Given the description of an element on the screen output the (x, y) to click on. 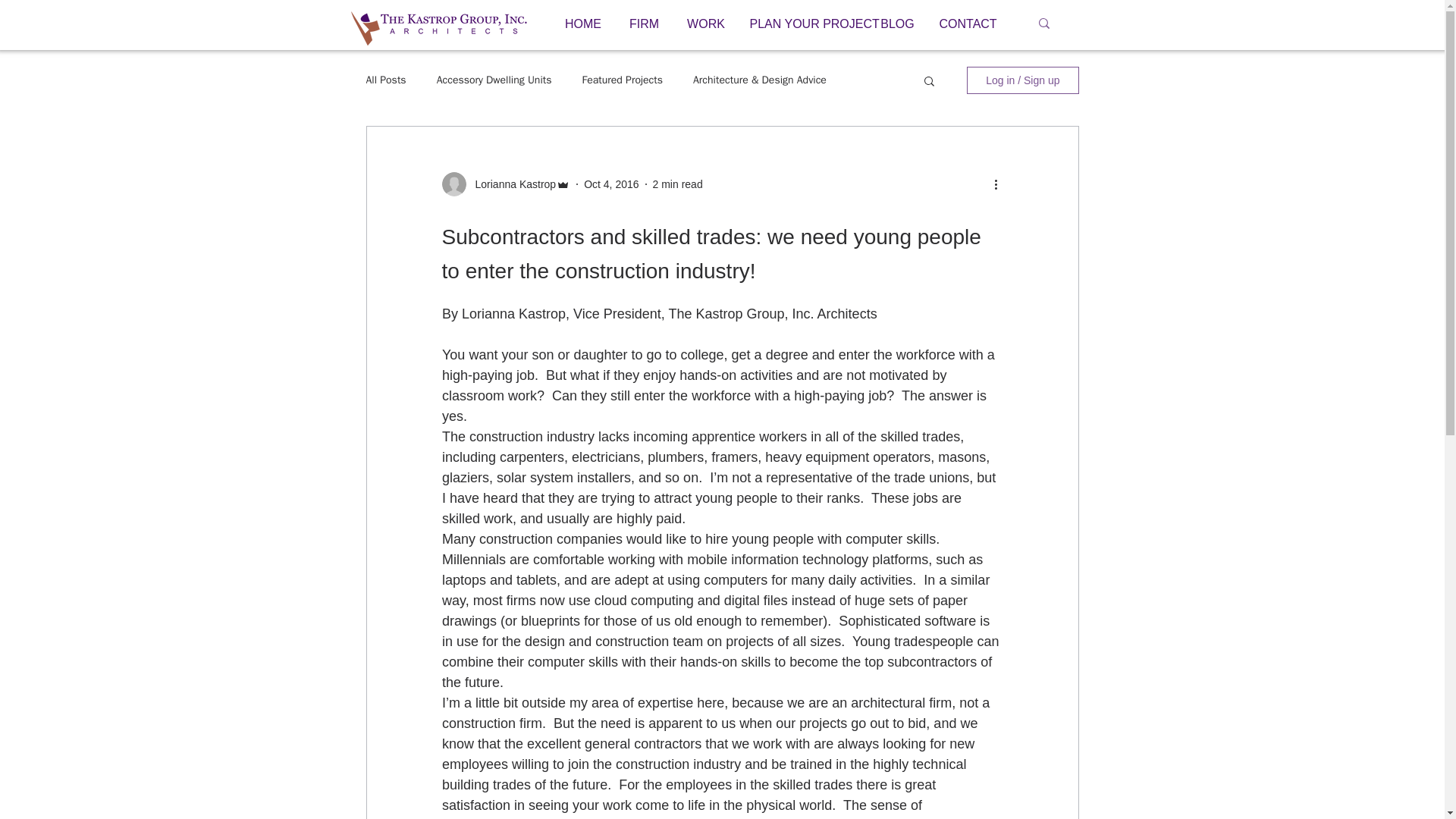
BLOG (897, 23)
Accessory Dwelling Units (493, 79)
2 min read (677, 183)
Lorianna Kastrop (510, 183)
Featured Projects (621, 79)
All Posts (385, 79)
WORK (705, 23)
HOME (582, 23)
Oct 4, 2016 (611, 183)
CONTACT (967, 23)
